Given the description of an element on the screen output the (x, y) to click on. 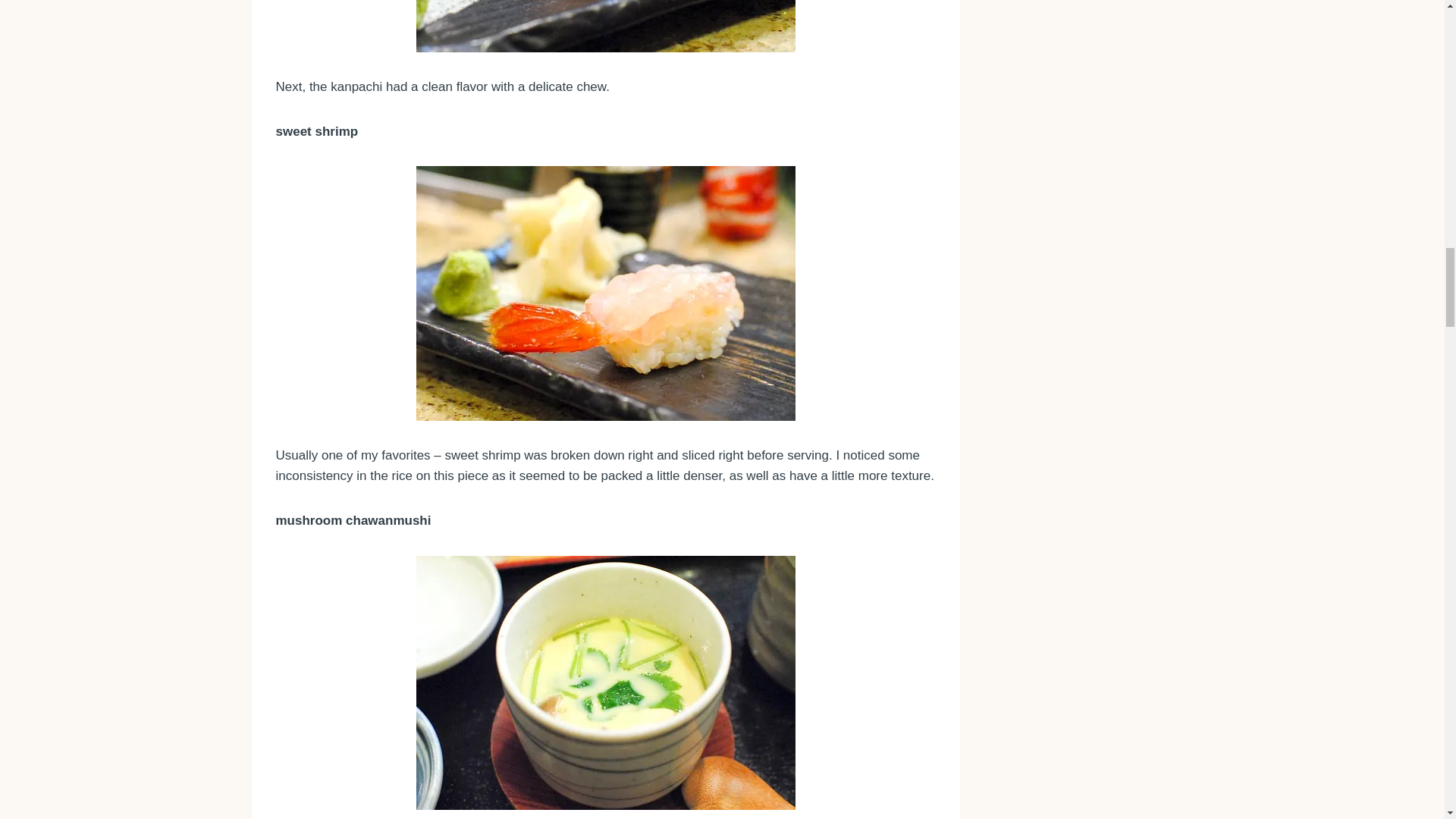
kanpachi by Darin Dines, on Flickr (606, 26)
